Given the description of an element on the screen output the (x, y) to click on. 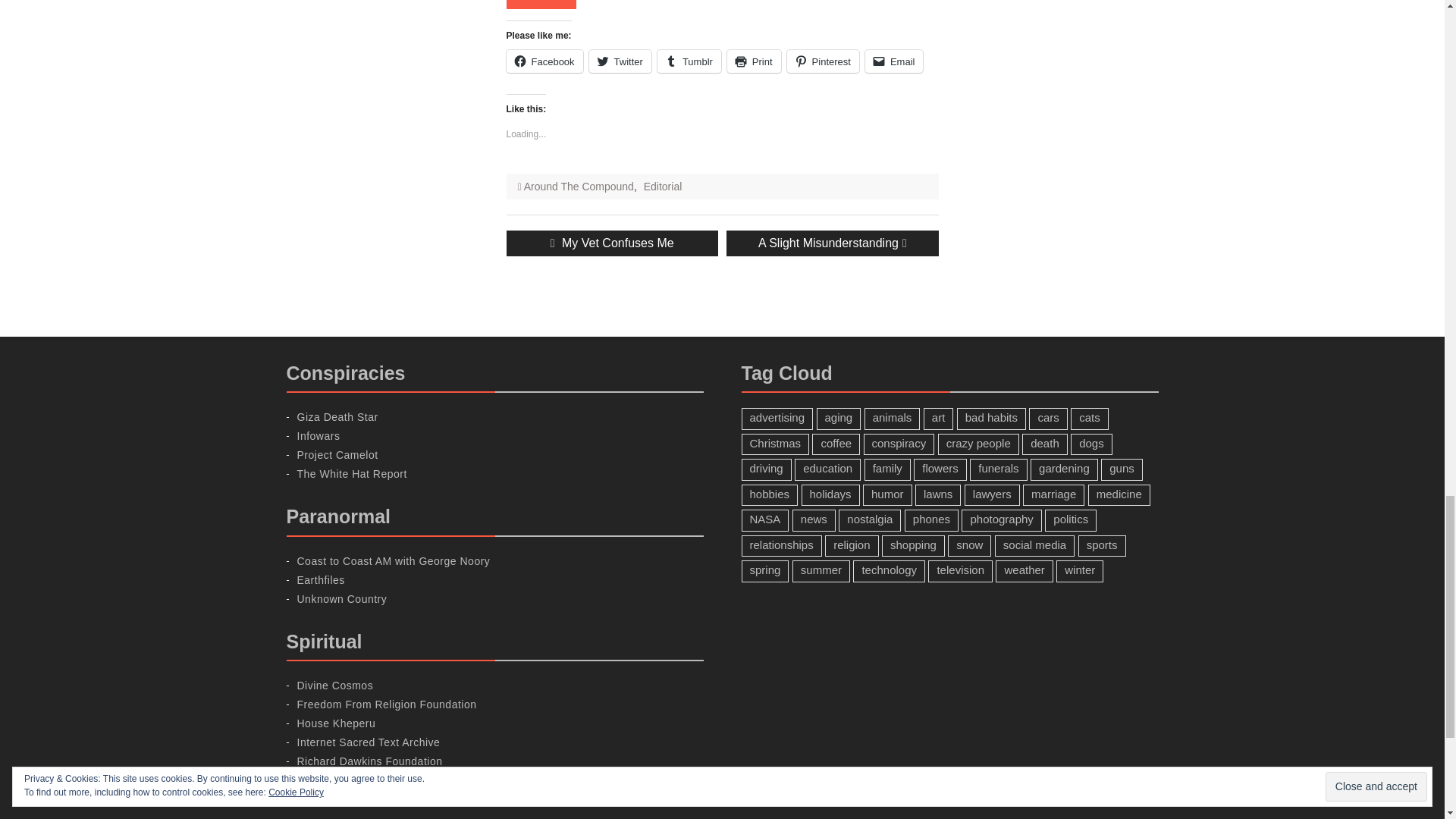
Click to share on Tumblr (689, 60)
Tumblr (689, 60)
Subscribe (541, 4)
Facebook (544, 60)
Click to email a link to a friend (893, 60)
Click to share on Pinterest (823, 60)
Click to share on Facebook (544, 60)
Click to print (753, 60)
Click to share on Twitter (619, 60)
Reporting What The Main Stream Media Refuses To Report (352, 473)
The companion site to the radio show. (393, 561)
Getting the truth out one whistleblower at a time. (337, 454)
Twitter (619, 60)
Print (753, 60)
